Given the description of an element on the screen output the (x, y) to click on. 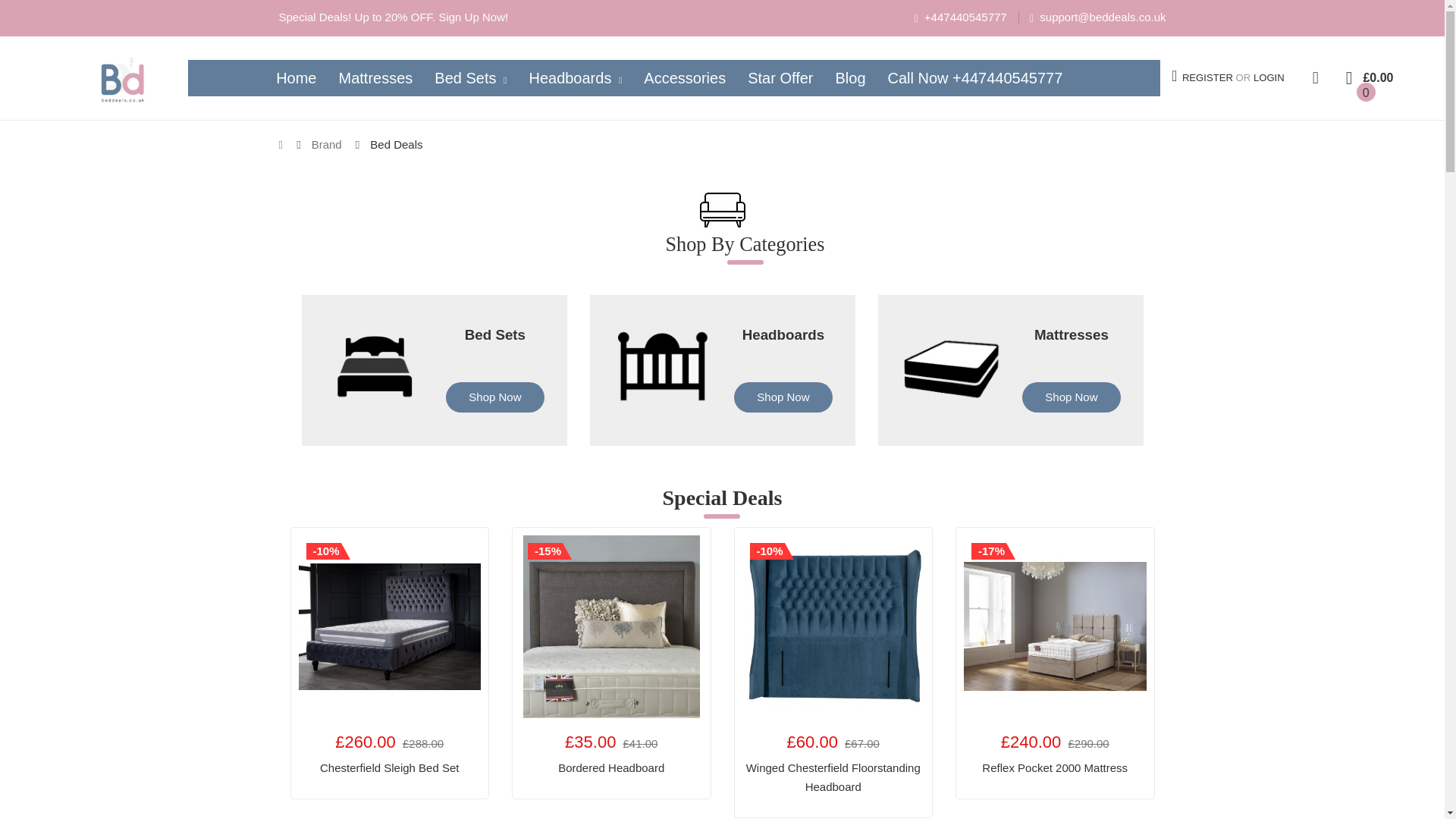
Chesterfield Sleigh Bed Set (389, 626)
Shop Now (782, 398)
Reflex Pocket 2000 Mattress (1055, 626)
Shop Now (494, 398)
Headboards (783, 334)
REGISTER (1207, 78)
Blog (851, 77)
Star Offer (780, 77)
Email Us (1097, 18)
Mattresses (375, 77)
